Given the description of an element on the screen output the (x, y) to click on. 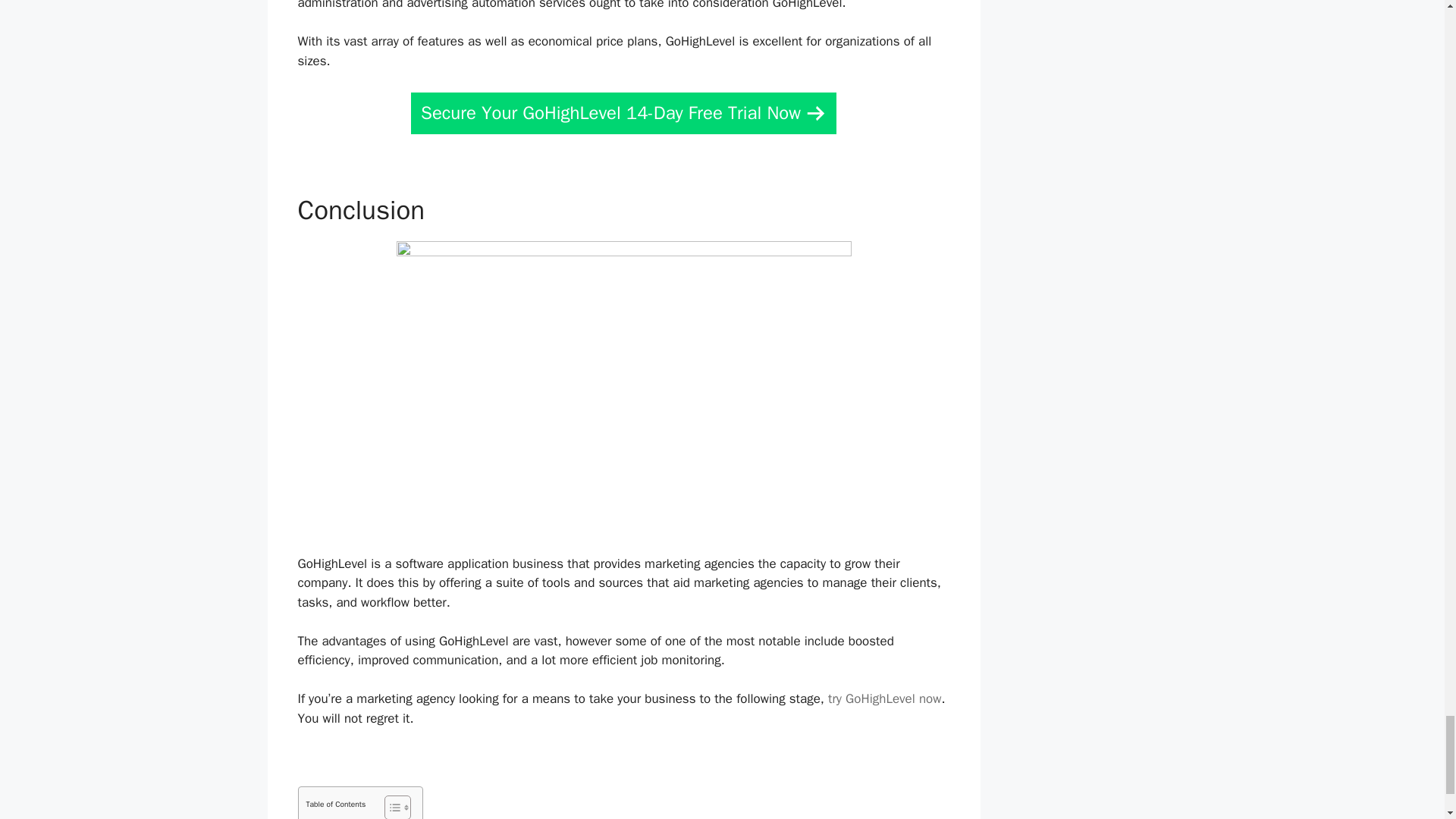
Secure Your GoHighLevel 14-Day Free Trial Now (622, 113)
try GoHighLevel now (884, 698)
